Given the description of an element on the screen output the (x, y) to click on. 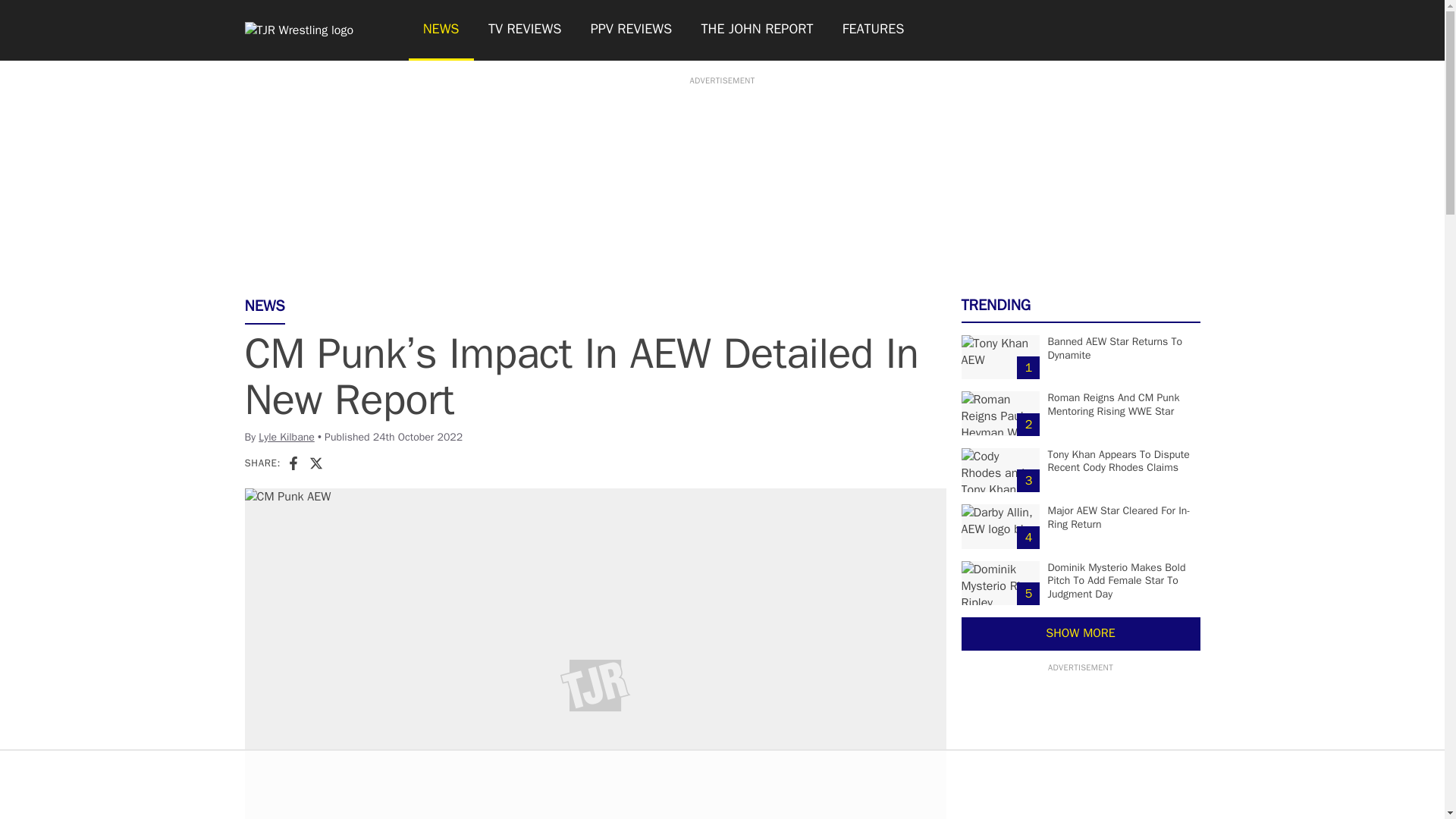
PPV REVIEWS (631, 30)
FEATURES (873, 30)
Lyle Kilbane (286, 436)
Facebook (292, 463)
TV REVIEWS (525, 30)
Facebook (292, 462)
X (315, 462)
NEWS (440, 30)
X (315, 463)
THE JOHN REPORT (756, 30)
